Given the description of an element on the screen output the (x, y) to click on. 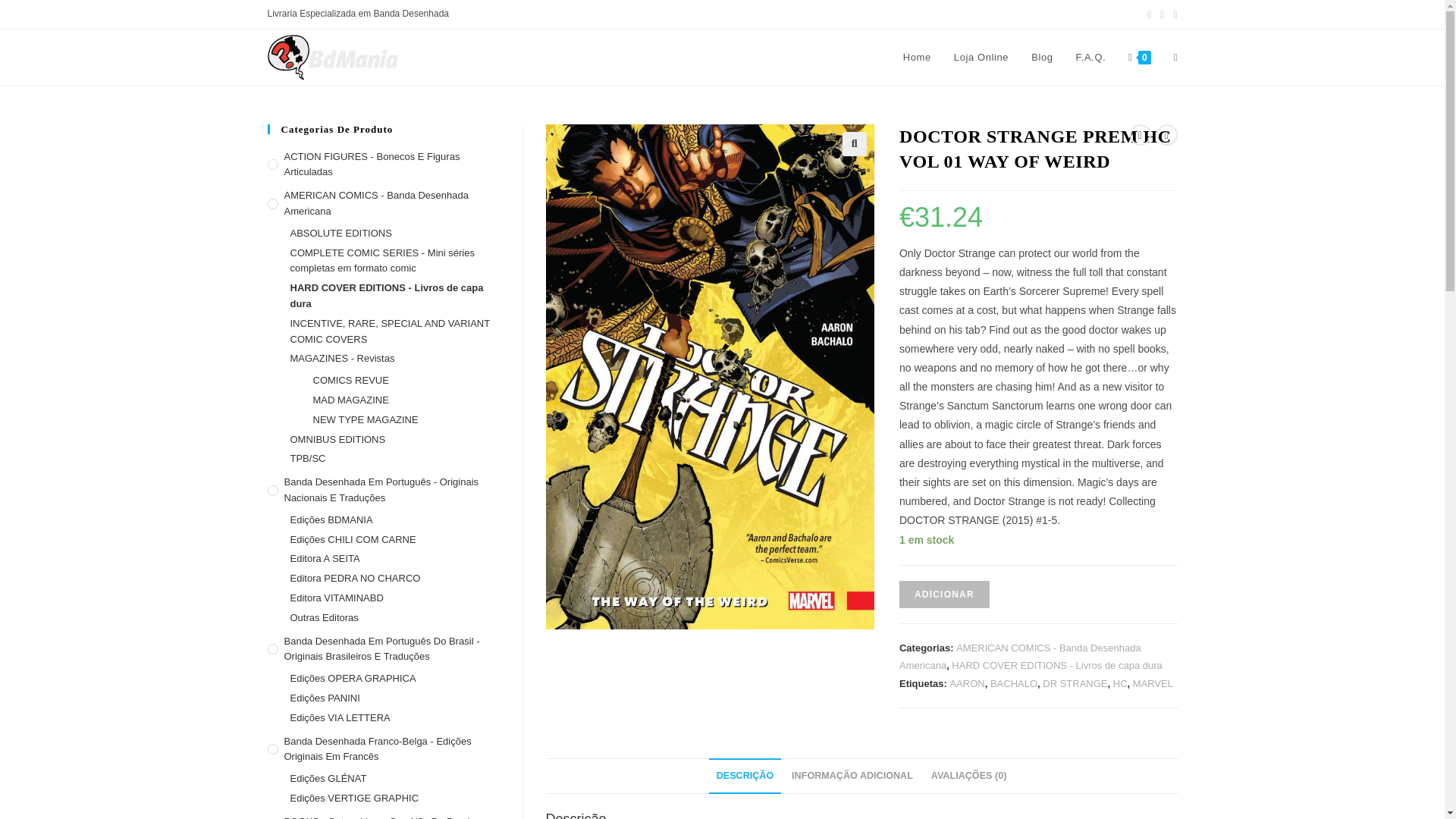
BACHALO (1013, 683)
AMERICAN COMICS - Banda Desenhada Americana (1020, 656)
HC (1119, 683)
Loja Online (981, 57)
9997 (1111, 24)
DR STRANGE (1074, 683)
AARON (966, 683)
MARVEL (1152, 683)
Home (916, 57)
HARD COVER EDITIONS - Livros de capa dura (1056, 665)
ADICIONAR (944, 594)
F.A.Q. (1091, 57)
